Given the description of an element on the screen output the (x, y) to click on. 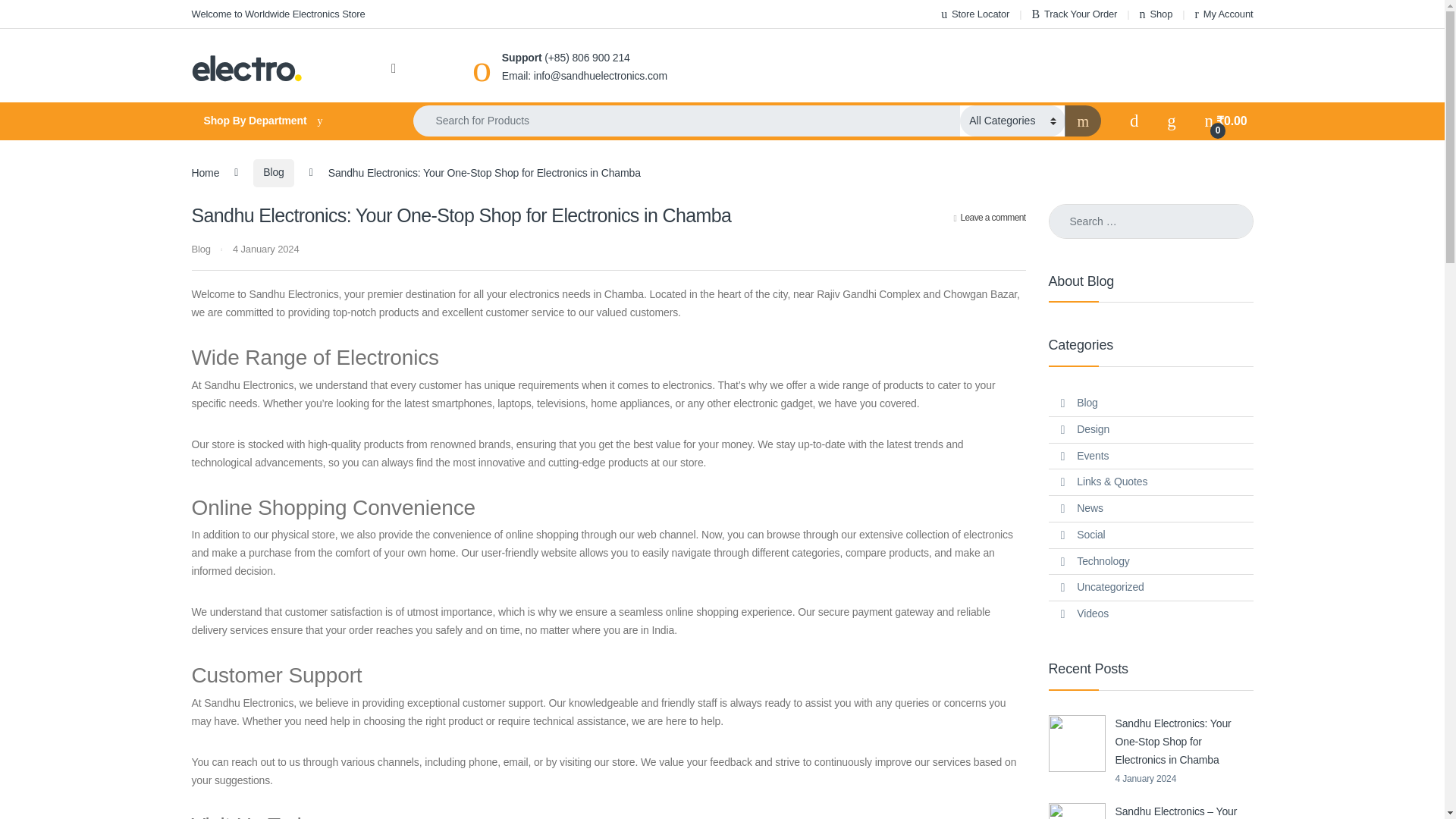
Store Locator (974, 13)
Track Your Order (1073, 13)
My Account (1224, 13)
Shop (1156, 13)
Track Your Order (1073, 13)
Welcome to Worldwide Electronics Store (277, 13)
Store Locator (974, 13)
Shop (1156, 13)
Welcome to Worldwide Electronics Store (277, 13)
My Account (1224, 13)
